Given the description of an element on the screen output the (x, y) to click on. 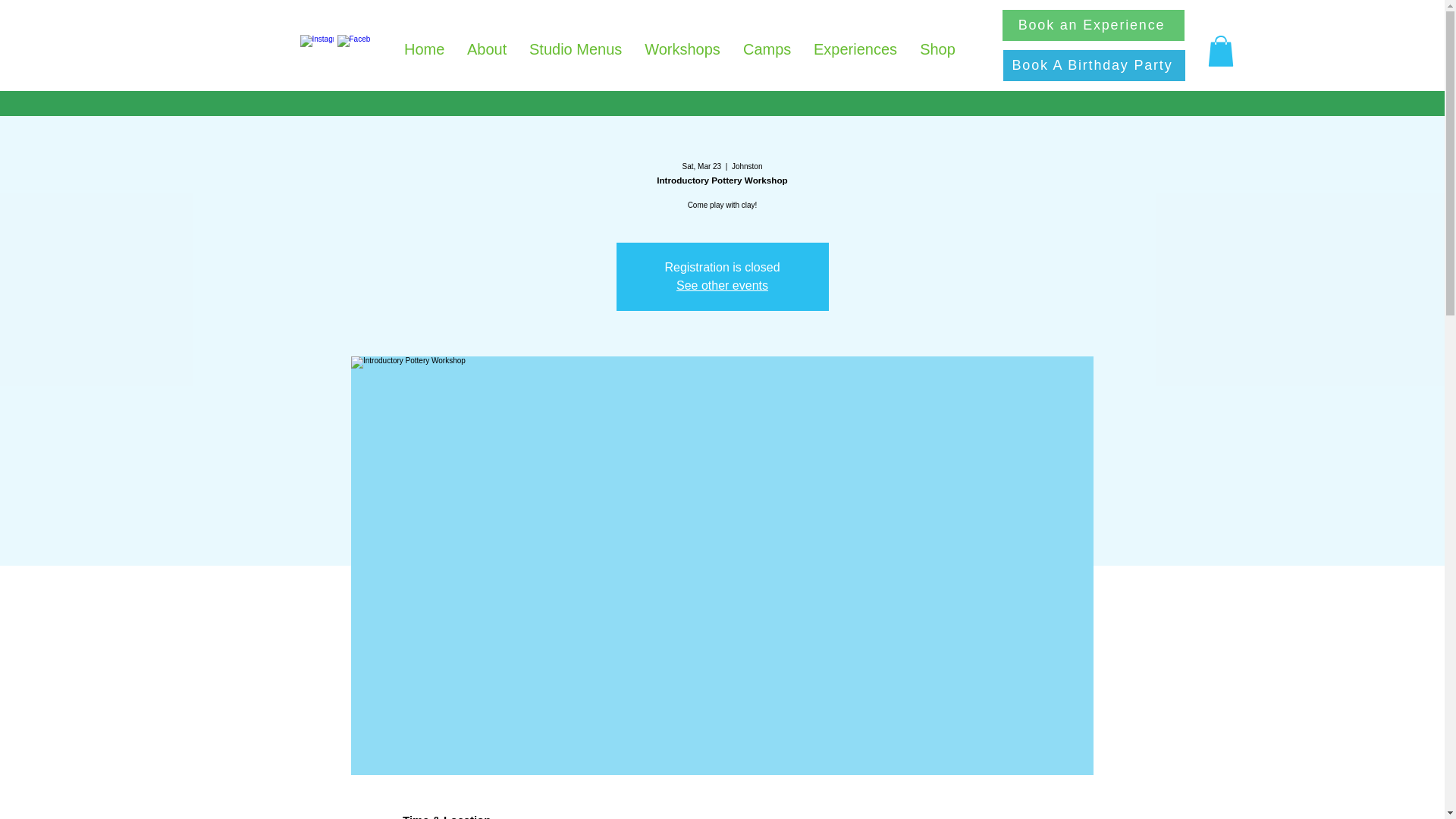
About (486, 49)
Camps (767, 49)
Studio Menus (575, 49)
Workshops (682, 49)
Experiences (855, 49)
Book an Experience (1094, 24)
See other events (722, 285)
Book A Birthday Party (1094, 65)
Home (424, 49)
Shop (937, 49)
